Given the description of an element on the screen output the (x, y) to click on. 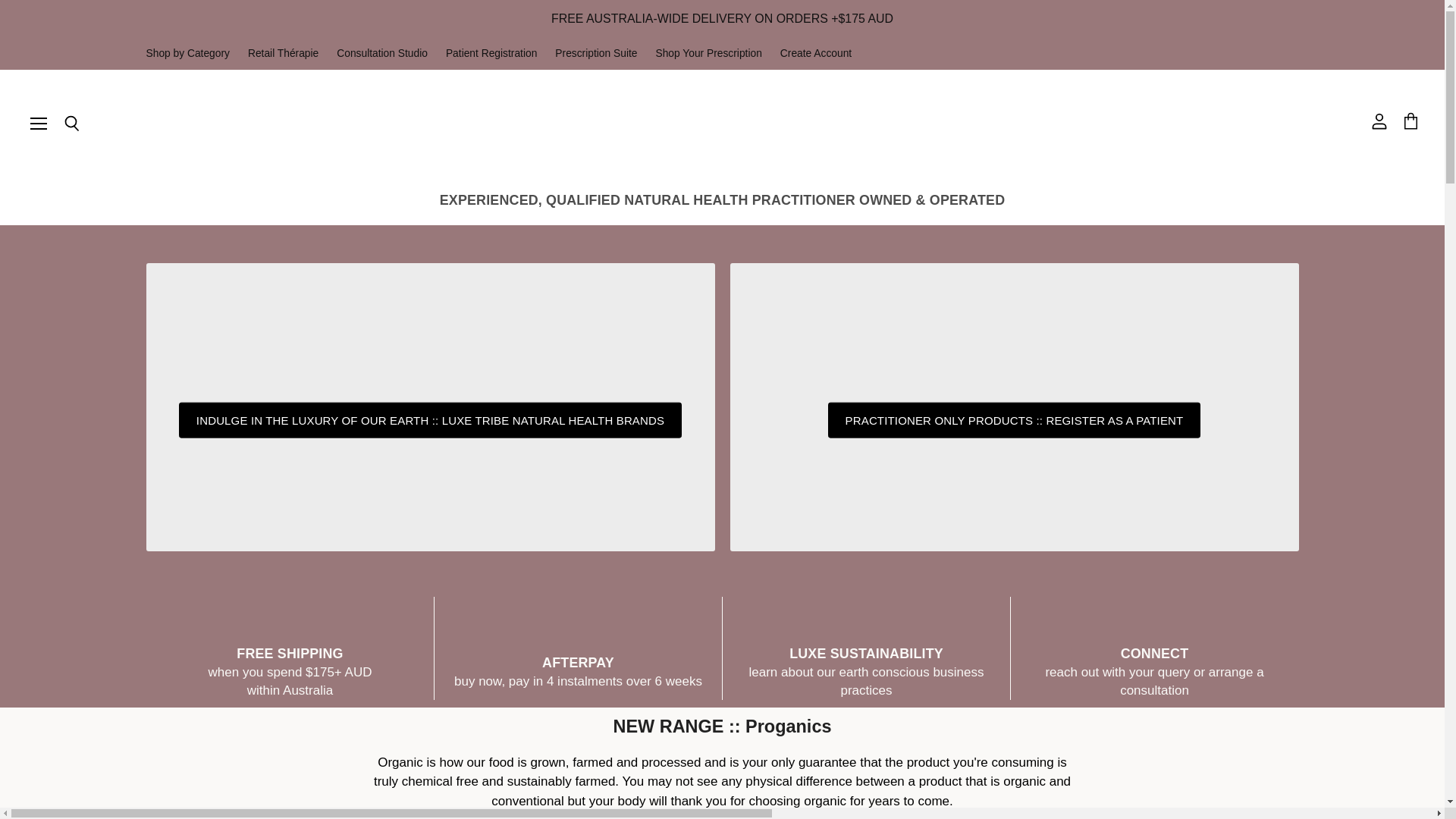
Shop by Category (186, 53)
Patient Registration (491, 53)
Shop Your Prescription (708, 53)
Search (71, 124)
Prescription Suite (595, 53)
Consultation Studio (382, 53)
Menu (39, 122)
Create Account (815, 53)
